Given the description of an element on the screen output the (x, y) to click on. 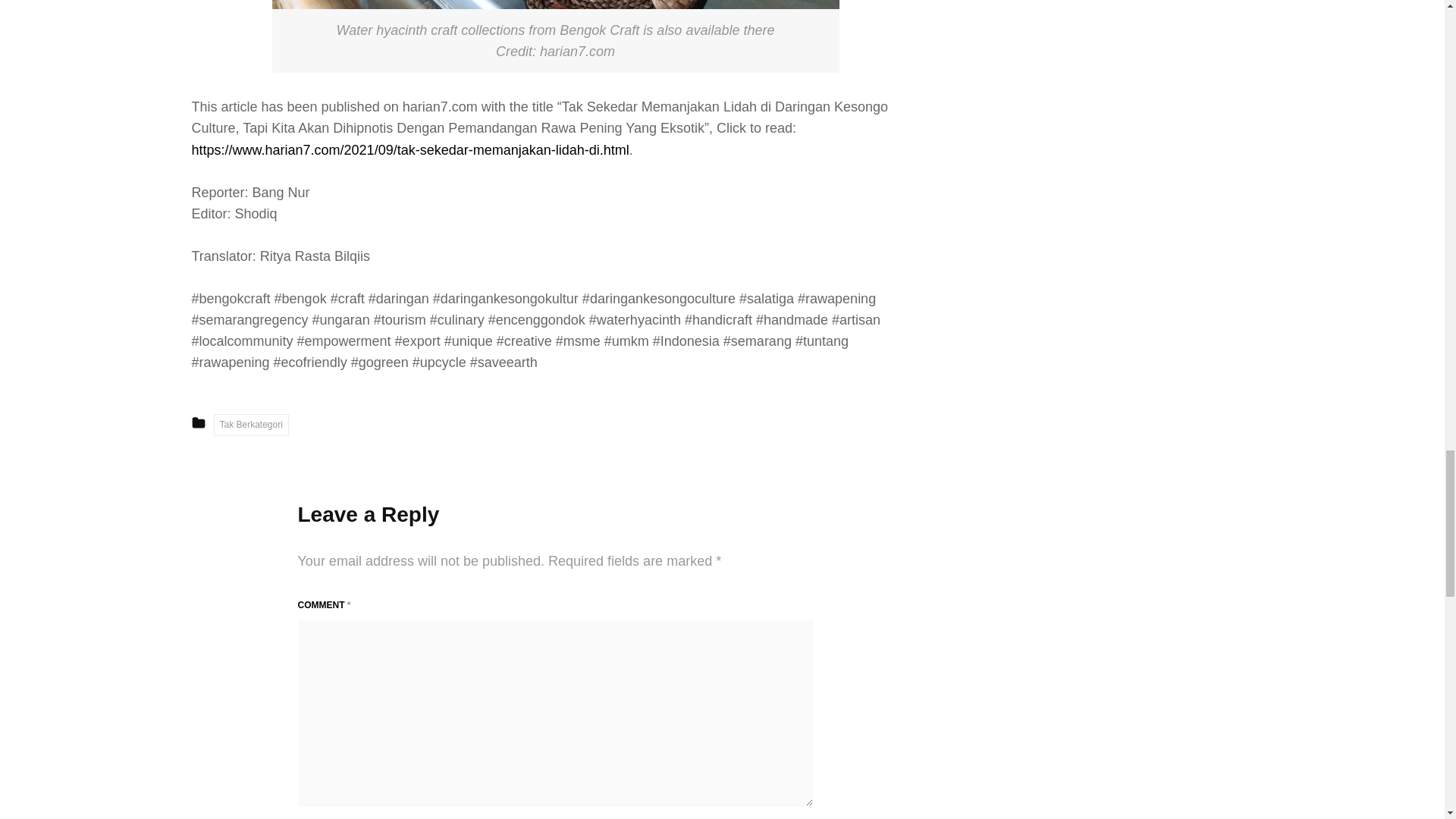
Tak Berkategori (251, 424)
